Given the description of an element on the screen output the (x, y) to click on. 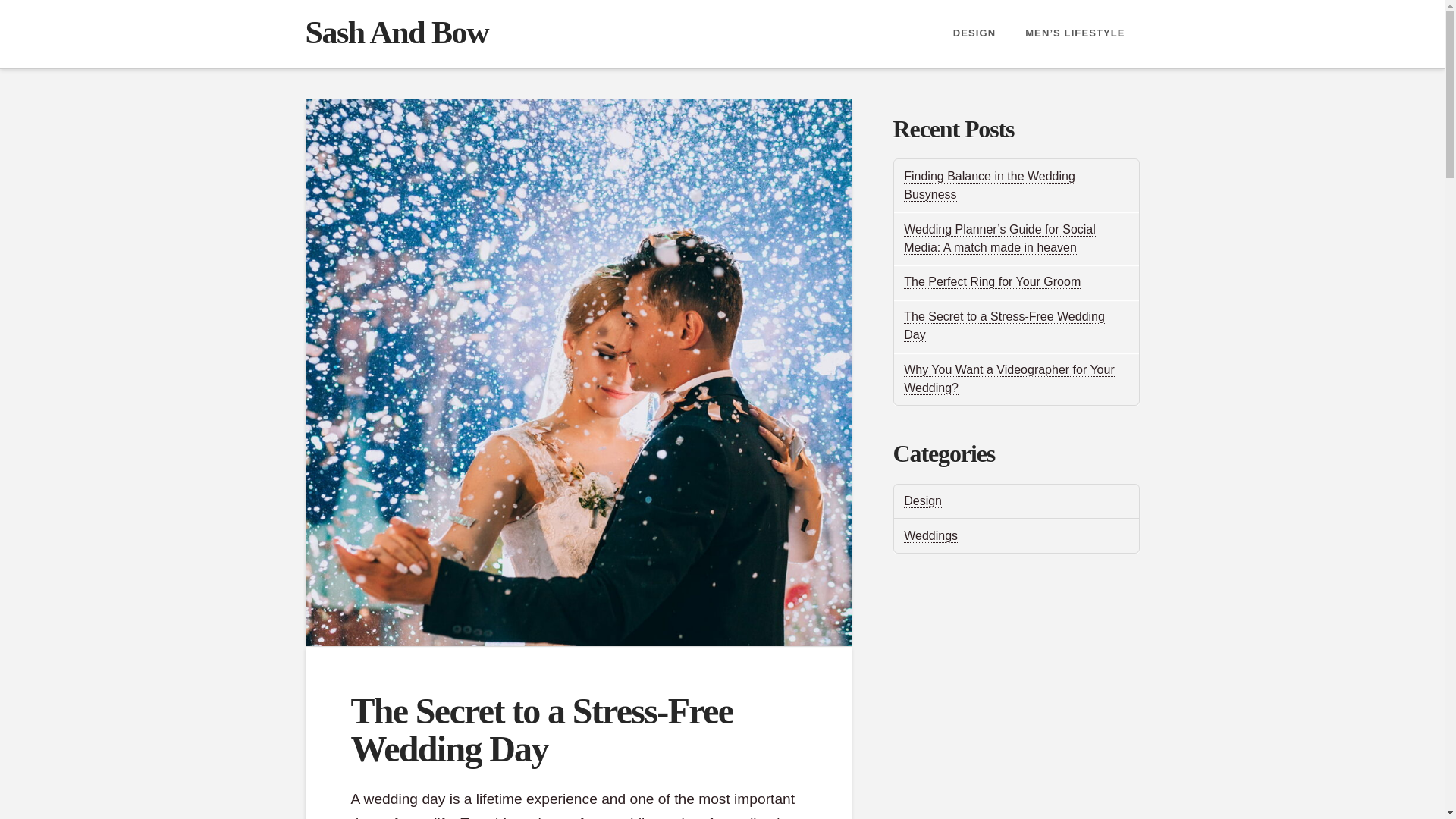
The Secret to a Stress-Free Wedding Day (1004, 326)
The Perfect Ring for Your Groom (992, 282)
Sash And Bow (395, 32)
Finding Balance in the Wedding Busyness (989, 185)
Design (923, 500)
DESIGN (973, 33)
Why You Want a Videographer for Your Wedding? (1009, 378)
Weddings (931, 535)
